Given the description of an element on the screen output the (x, y) to click on. 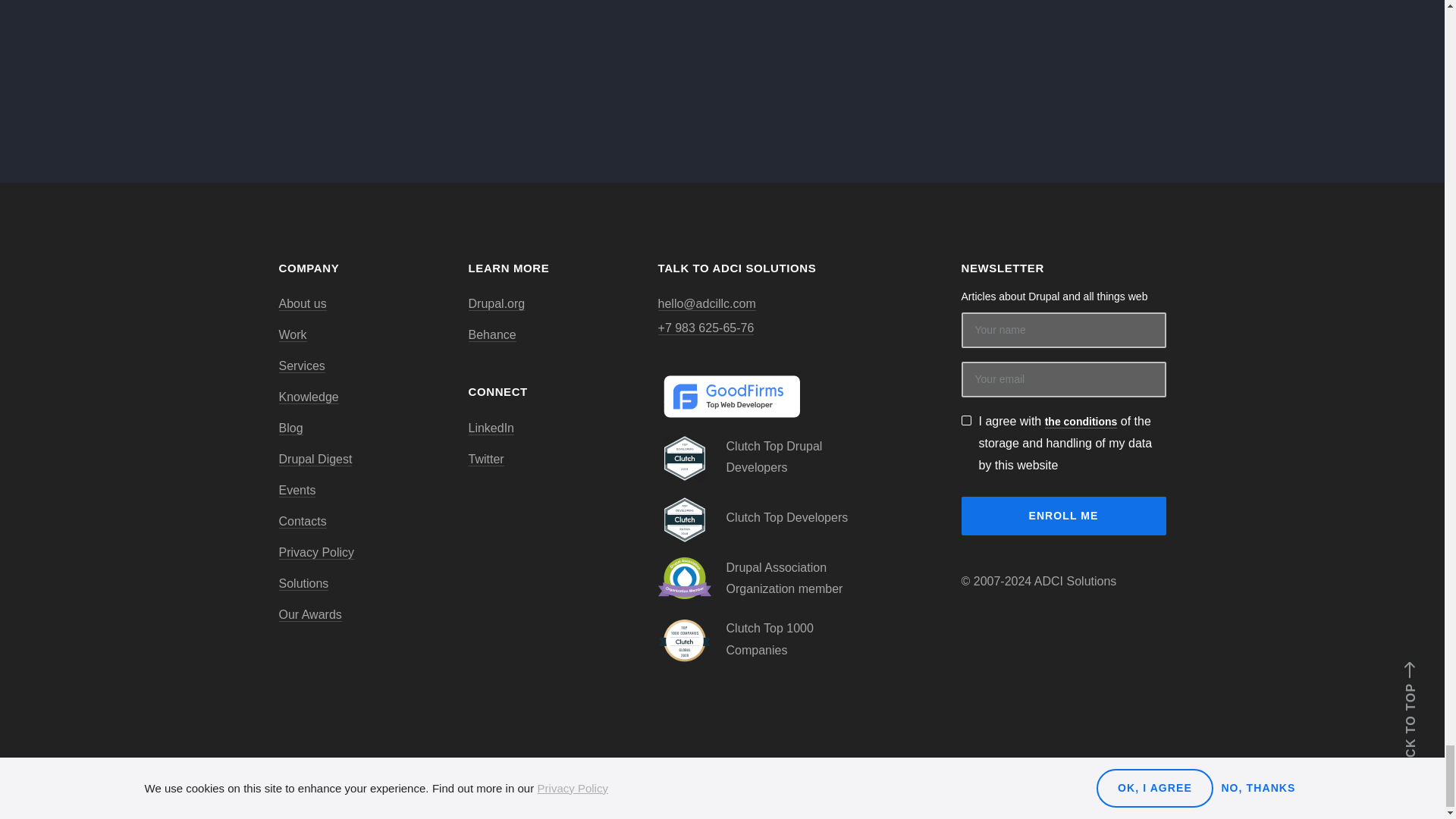
Contacts (302, 521)
Privacy Policy (317, 552)
About us (302, 304)
Drupal.org (496, 304)
Blog (290, 427)
Behance (492, 335)
LinkedIn (491, 427)
Events (297, 490)
Work (293, 335)
Our Awards (310, 614)
Drupal Digest (315, 459)
Knowledge (309, 397)
Solutions (304, 583)
Twitter (485, 459)
Services (301, 366)
